Given the description of an element on the screen output the (x, y) to click on. 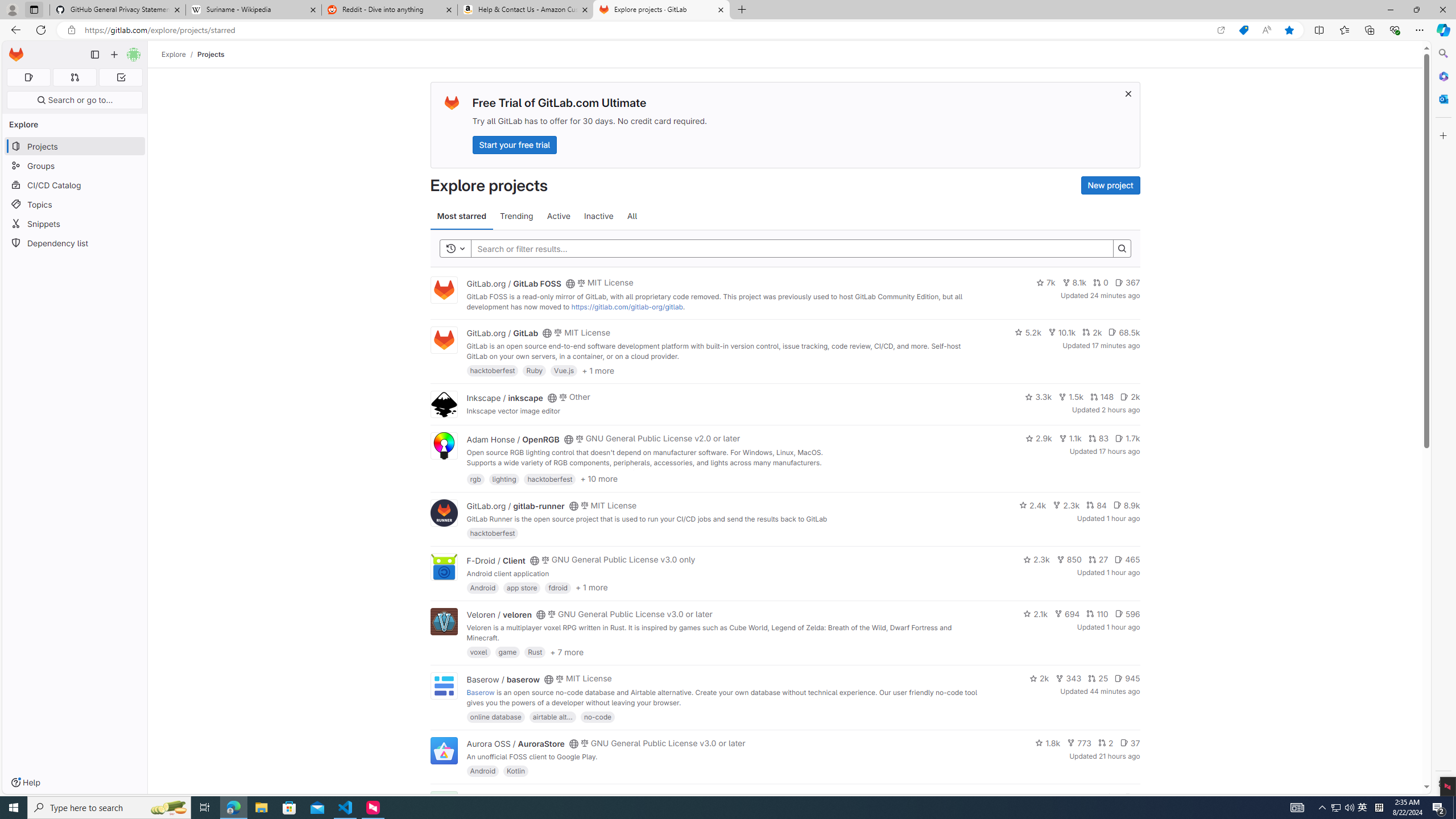
596 (1127, 613)
Inactive (598, 216)
84 (1096, 504)
Reddit - Dive into anything (390, 9)
Shopping in Microsoft Edge (1243, 29)
Topics (74, 203)
Start your free trial (514, 144)
Aurora OSS / AuroraStore (514, 743)
Inkscape / inkscape (504, 397)
25 (1097, 678)
1.7k (1127, 438)
Kotlin (515, 770)
143 (1085, 797)
